Given the description of an element on the screen output the (x, y) to click on. 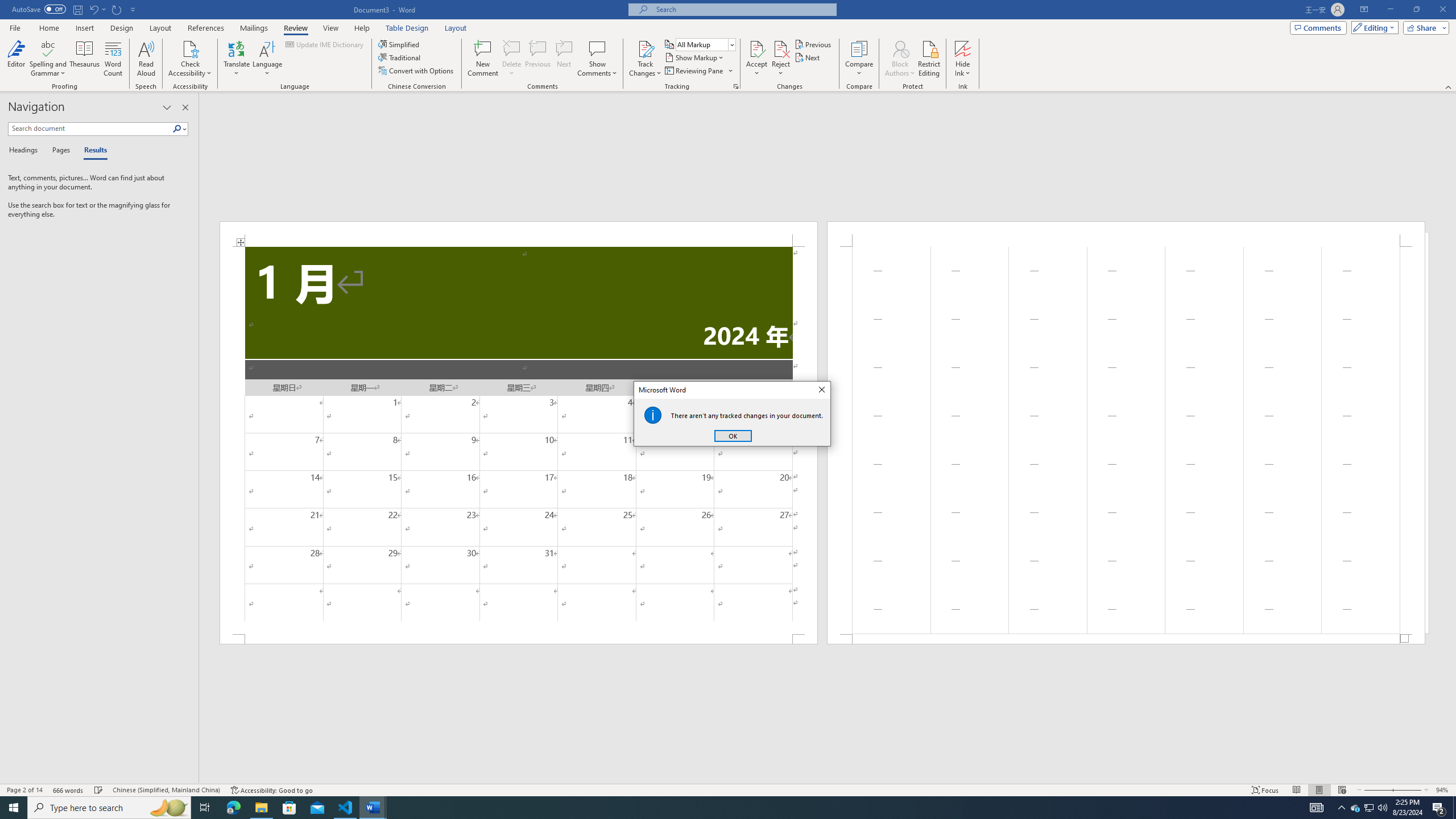
Track Changes (644, 58)
